Given the description of an element on the screen output the (x, y) to click on. 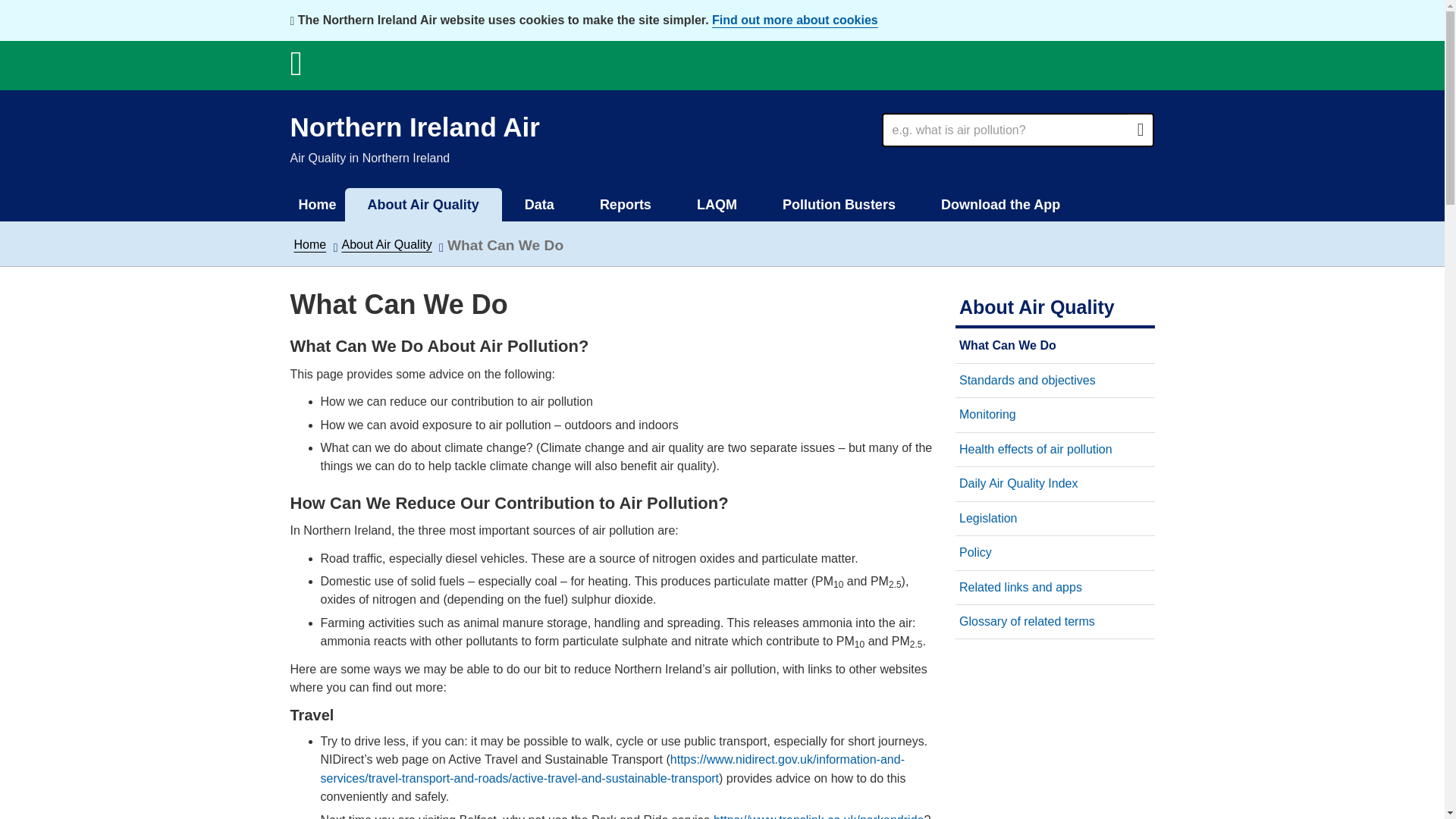
Daily Air Quality Index (1018, 482)
Home (310, 244)
Health effects of air pollution (1035, 449)
Glossary of related terms (1026, 621)
Home (316, 204)
Find out more about cookies (794, 19)
Monitoring (987, 413)
Download the App (1000, 204)
Pollution Busters (839, 204)
LAQM (717, 204)
Search (1004, 130)
Policy (975, 552)
Legislation (988, 517)
What Can We Do (1008, 345)
Related links and apps (1020, 586)
